Given the description of an element on the screen output the (x, y) to click on. 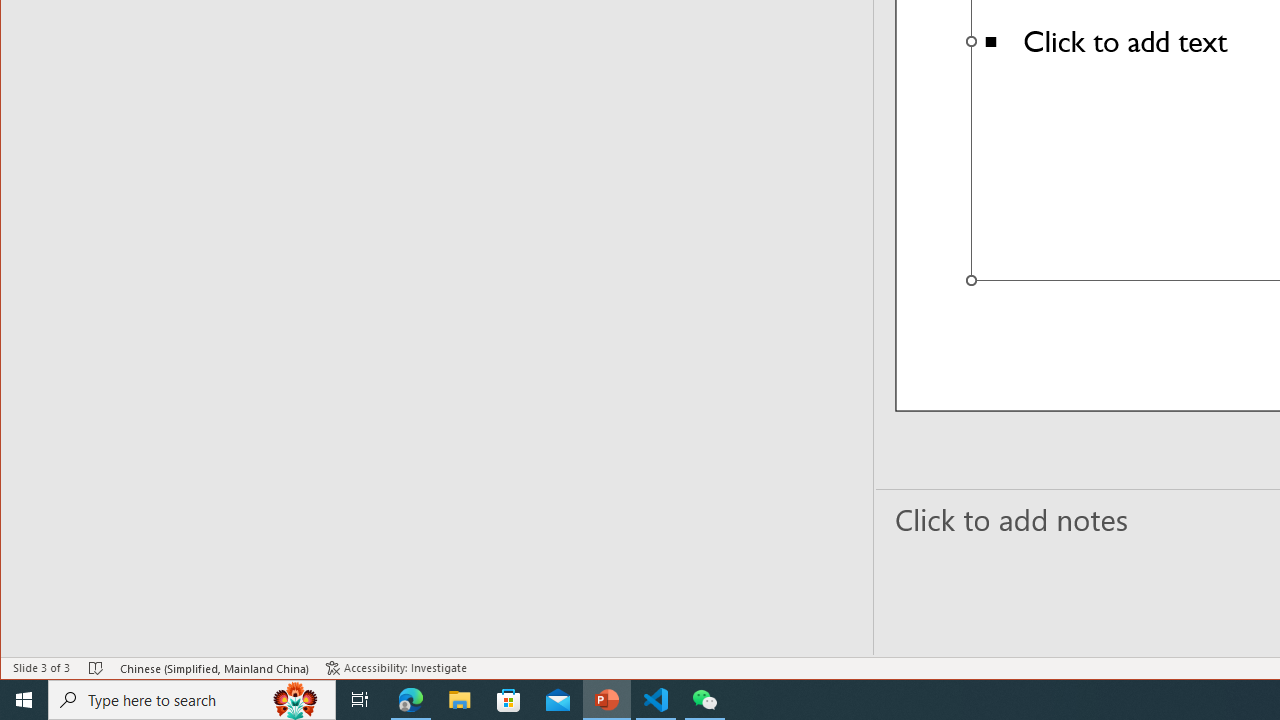
WeChat - 1 running window (704, 699)
